Given the description of an element on the screen output the (x, y) to click on. 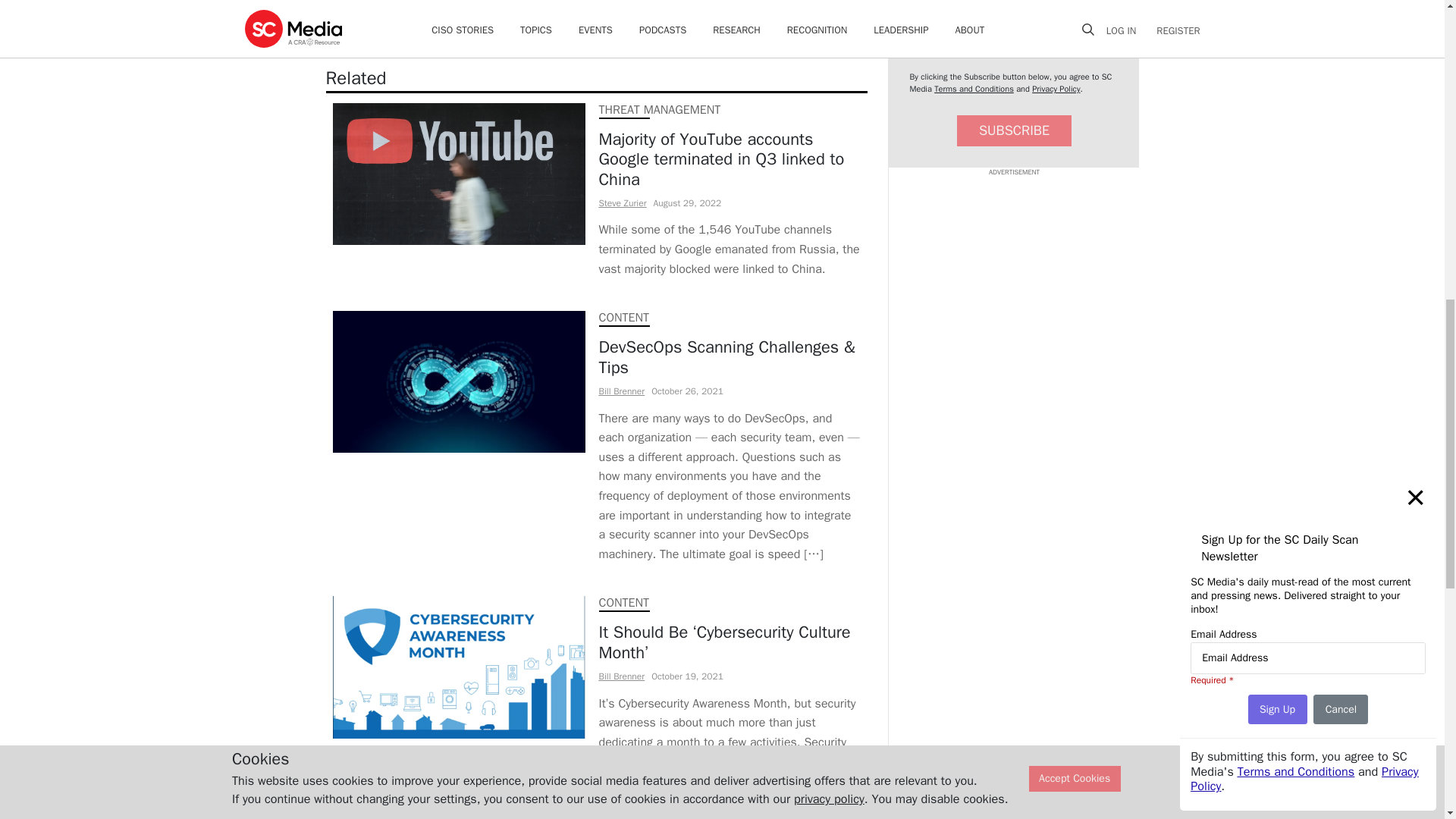
Privacy Policy (1056, 88)
CONTENT (623, 317)
Steve Zurier (622, 203)
3rd party ad content (1012, 271)
Bill Brenner (621, 676)
CONTENT (623, 602)
Terms and Conditions (973, 88)
SUBSCRIBE (1013, 130)
Bill Brenner (621, 390)
THREAT MANAGEMENT (659, 109)
